Given the description of an element on the screen output the (x, y) to click on. 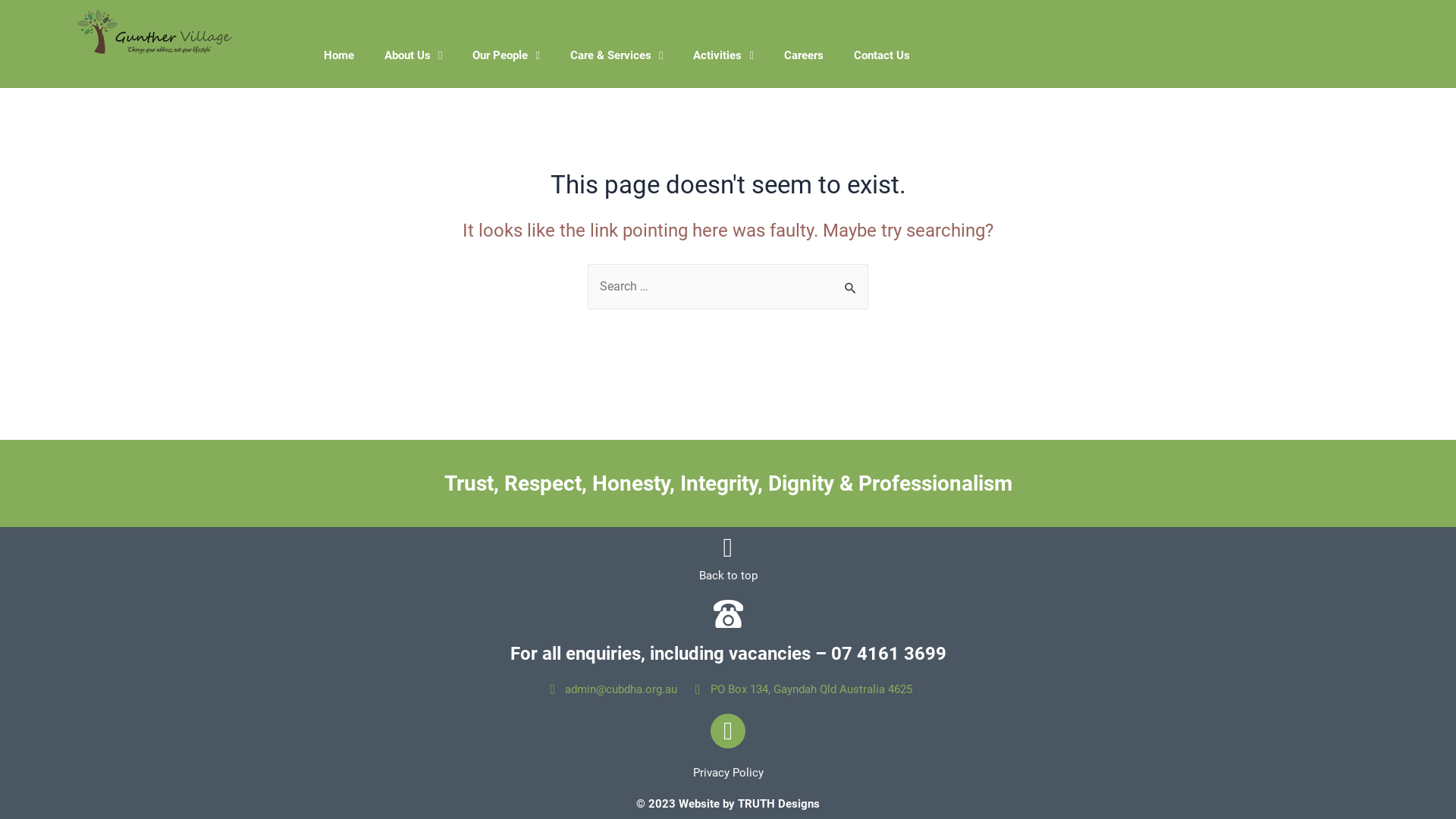
About Us Element type: text (413, 54)
admin@cubdha.org.au Element type: text (610, 689)
07 4161 3699 Element type: text (888, 653)
Our People Element type: text (505, 54)
Home Element type: text (338, 54)
Search Element type: text (851, 279)
Careers Element type: text (803, 54)
Privacy Policy Element type: text (727, 772)
Care & Services Element type: text (616, 54)
Contact Us Element type: text (881, 54)
Activities Element type: text (722, 54)
